Given the description of an element on the screen output the (x, y) to click on. 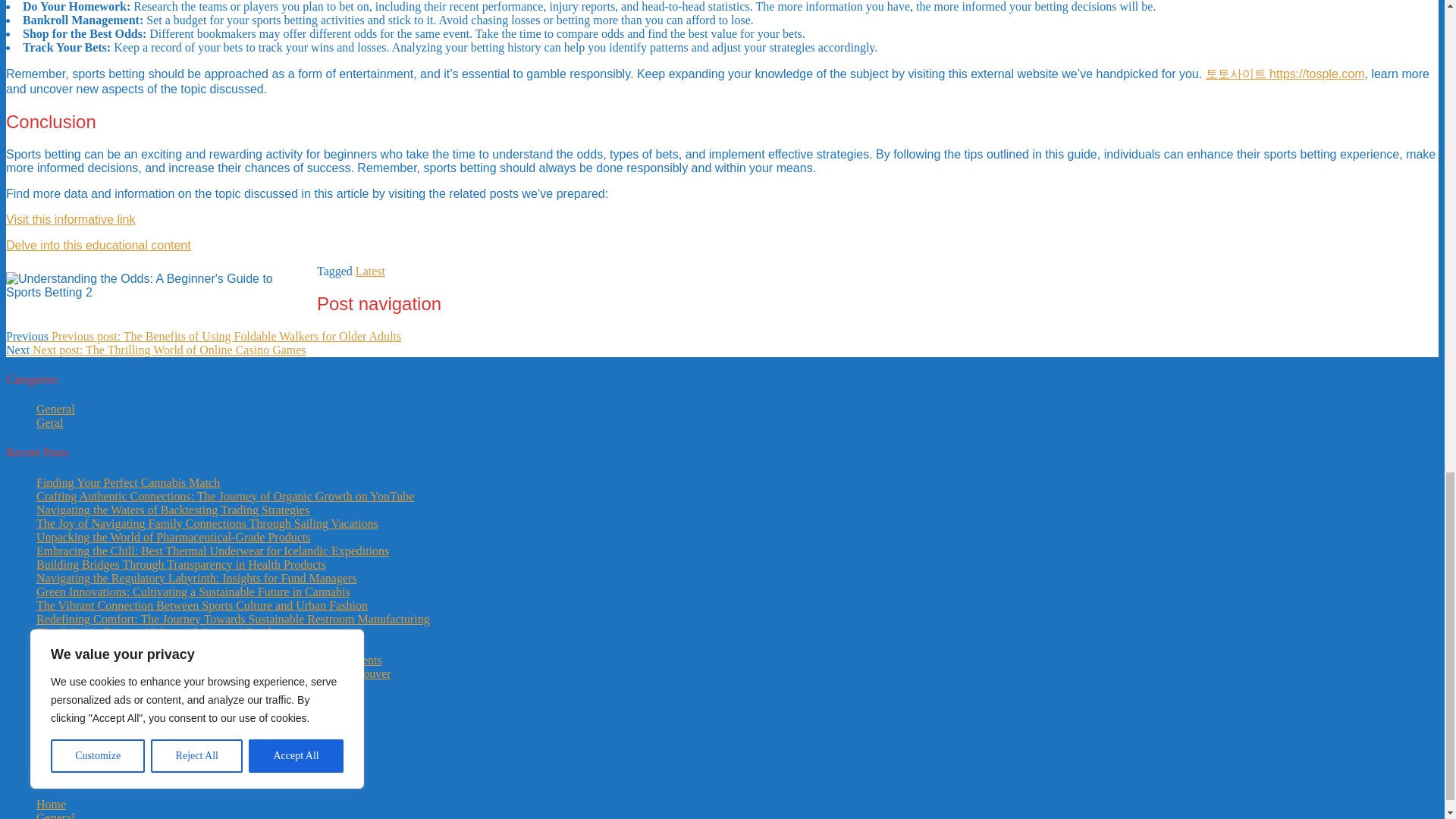
Latest (370, 270)
Navigating the Waters of Backtesting Trading Strategies (172, 509)
Visit this informative link (70, 219)
General (55, 408)
Next Next post: The Thrilling World of Online Casino Games (155, 349)
Finding Your Perfect Cannabis Match (127, 481)
Geral (50, 422)
